Given the description of an element on the screen output the (x, y) to click on. 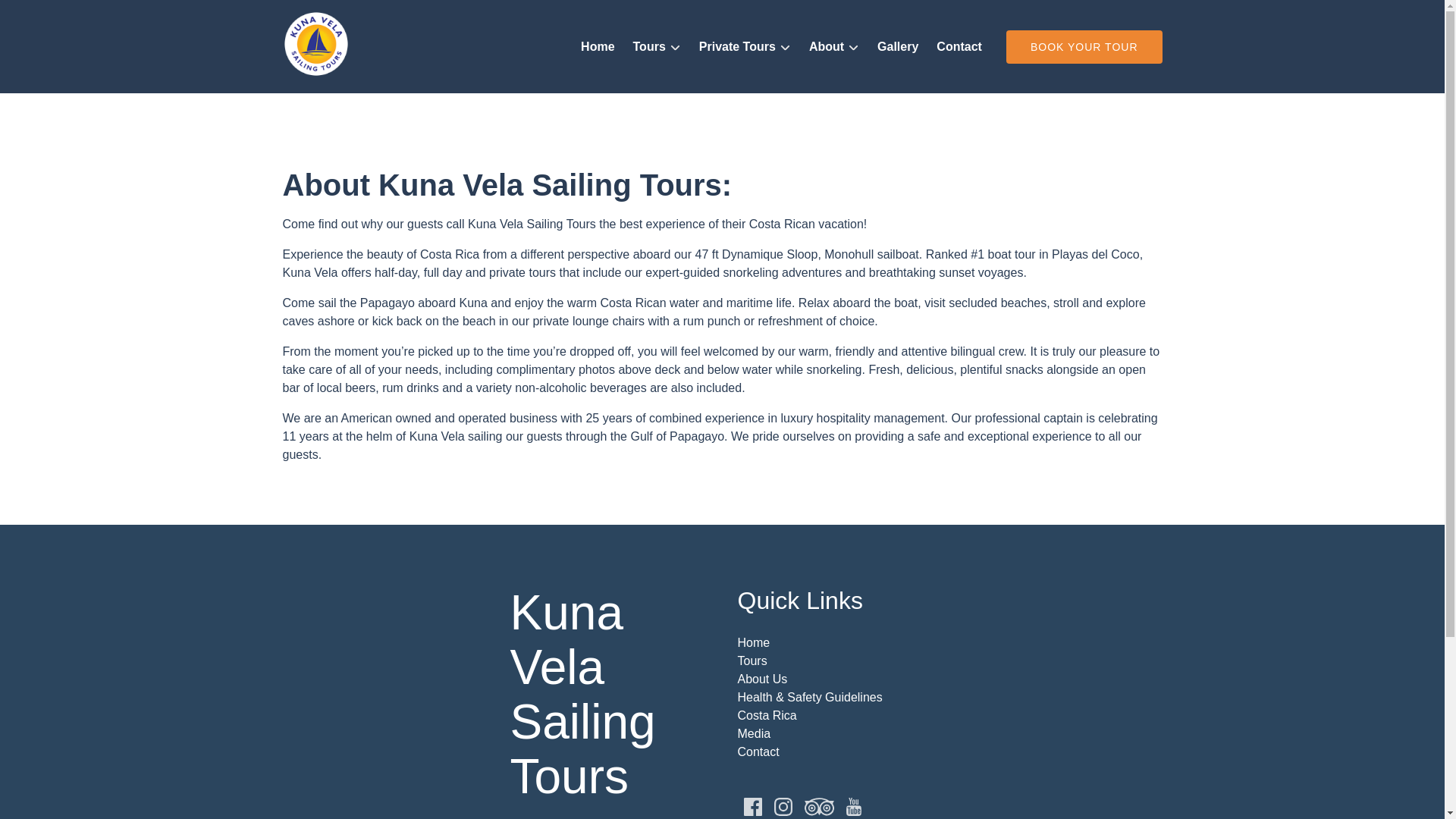
Open About Menu (837, 42)
Skip to footer (42, 16)
Private Tours (744, 46)
Home (753, 642)
Contact (959, 46)
Tours (657, 46)
Skip to primary navigation (77, 16)
BOOK YOUR TOUR (1083, 46)
About (833, 46)
Skip to content (47, 16)
Open Tours Menu (660, 42)
Tours (751, 660)
About Us (761, 678)
Gallery (897, 46)
Open Private Tours Menu (748, 42)
